Given the description of an element on the screen output the (x, y) to click on. 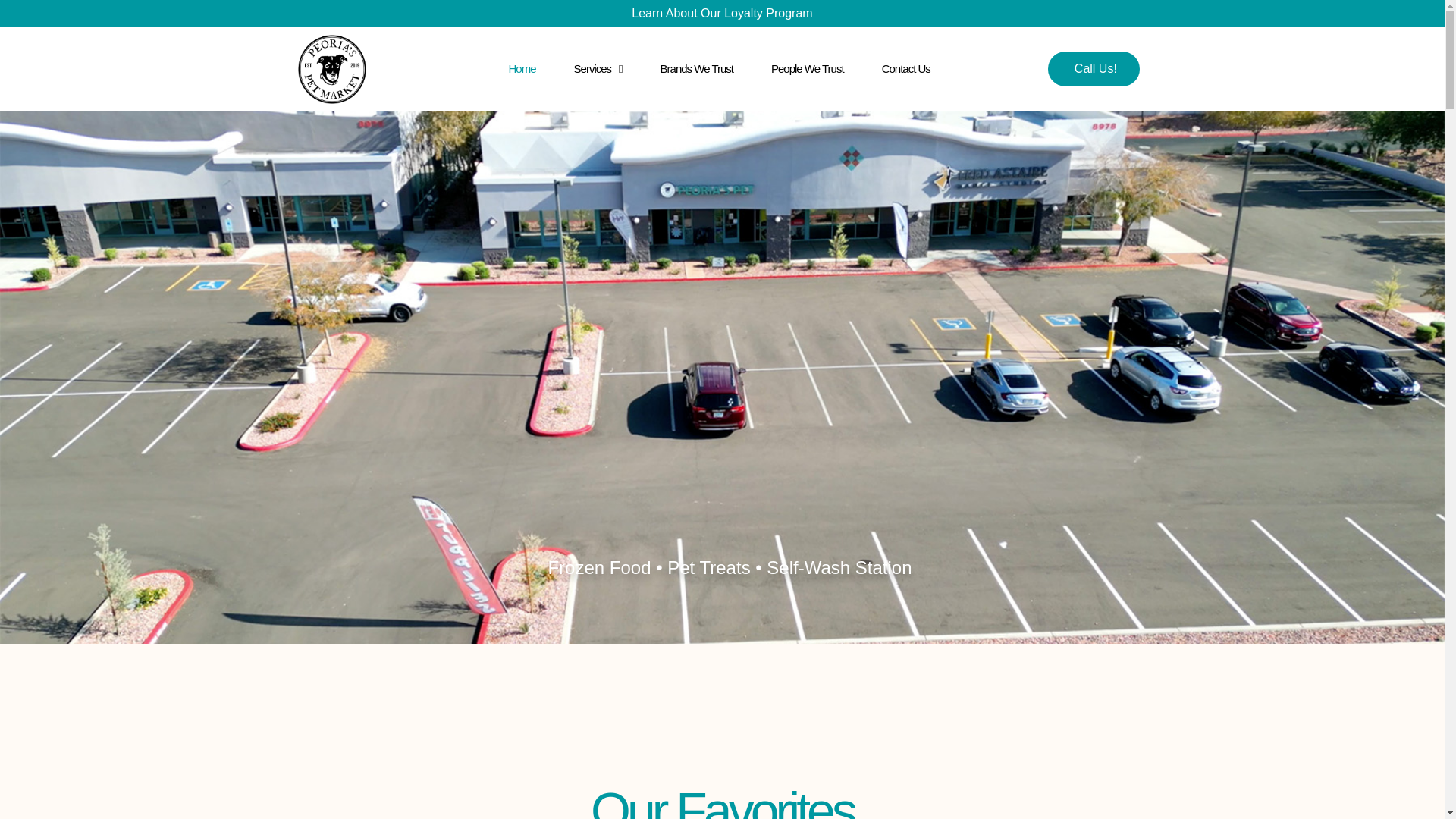
Contact Us (906, 68)
People We Trust (807, 68)
Brands We Trust (697, 68)
Call Us! (1093, 68)
Services (598, 68)
